Given the description of an element on the screen output the (x, y) to click on. 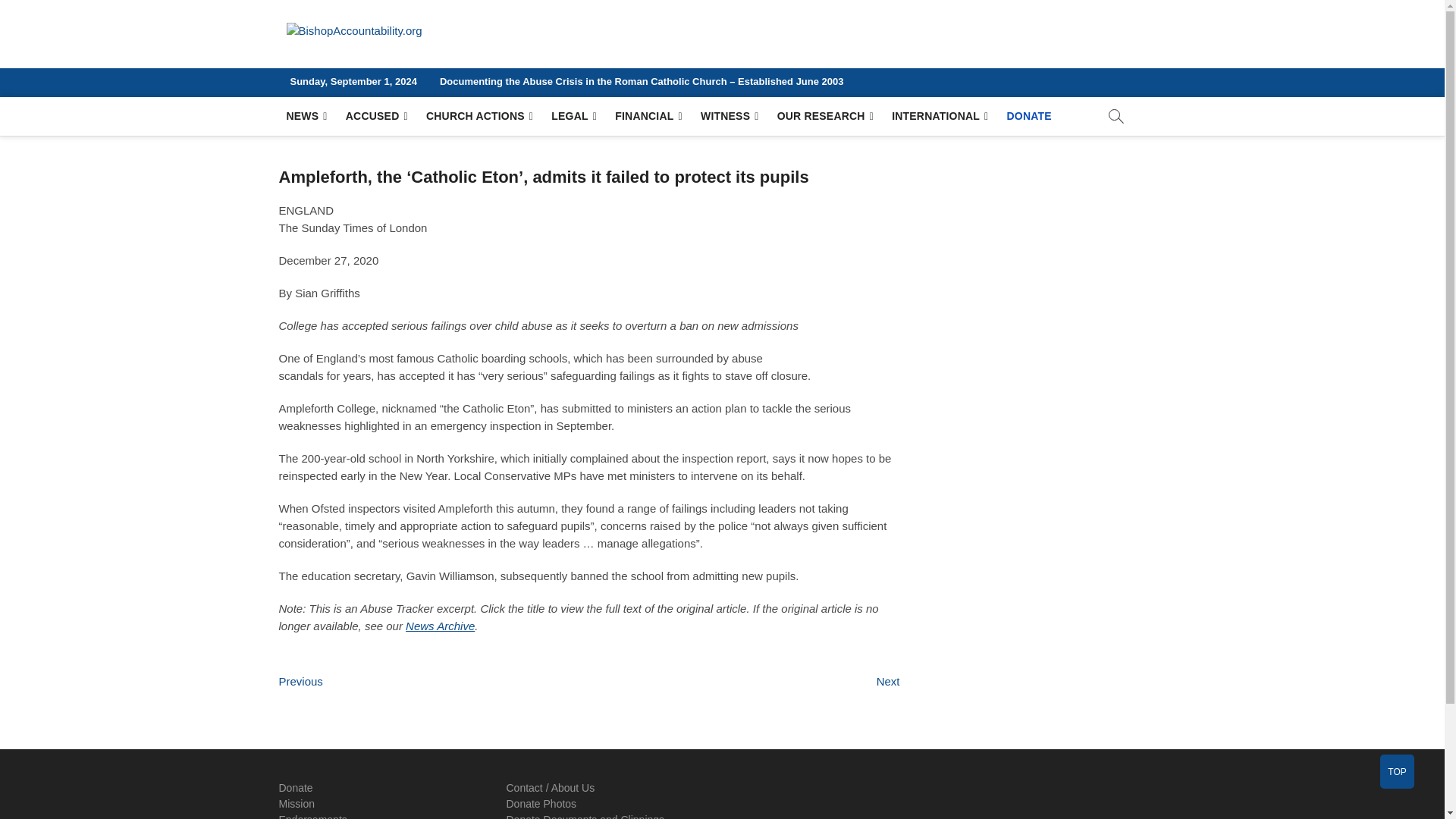
WITNESS (730, 116)
FINANCIAL (648, 116)
ACCUSED (375, 116)
BishopAccountability.org (570, 50)
OUR RESEARCH (825, 116)
NEWS (306, 116)
CHURCH ACTIONS (479, 116)
BishopAccountability.org (570, 50)
LEGAL (573, 116)
